Given the description of an element on the screen output the (x, y) to click on. 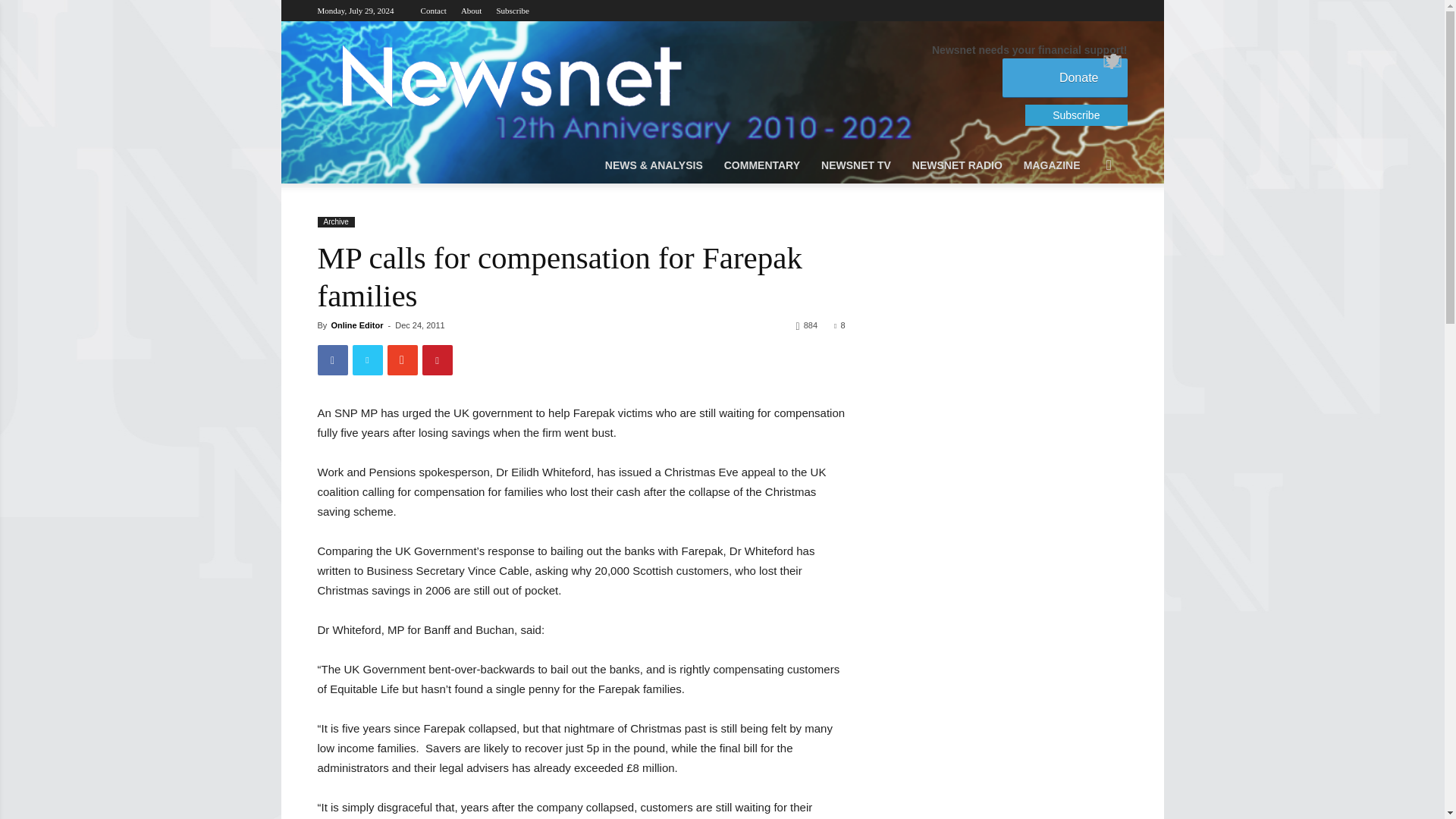
NEWSNET TV (855, 165)
Archive (335, 222)
About (471, 10)
8 (839, 325)
MAGAZINE (1051, 165)
Search (1086, 225)
Contact (433, 10)
Online Editor (356, 325)
NEWSNET RADIO (957, 165)
Subscribe (512, 10)
NEWSNET.scot (509, 76)
COMMENTARY (761, 165)
Donate (1064, 77)
